Given the description of an element on the screen output the (x, y) to click on. 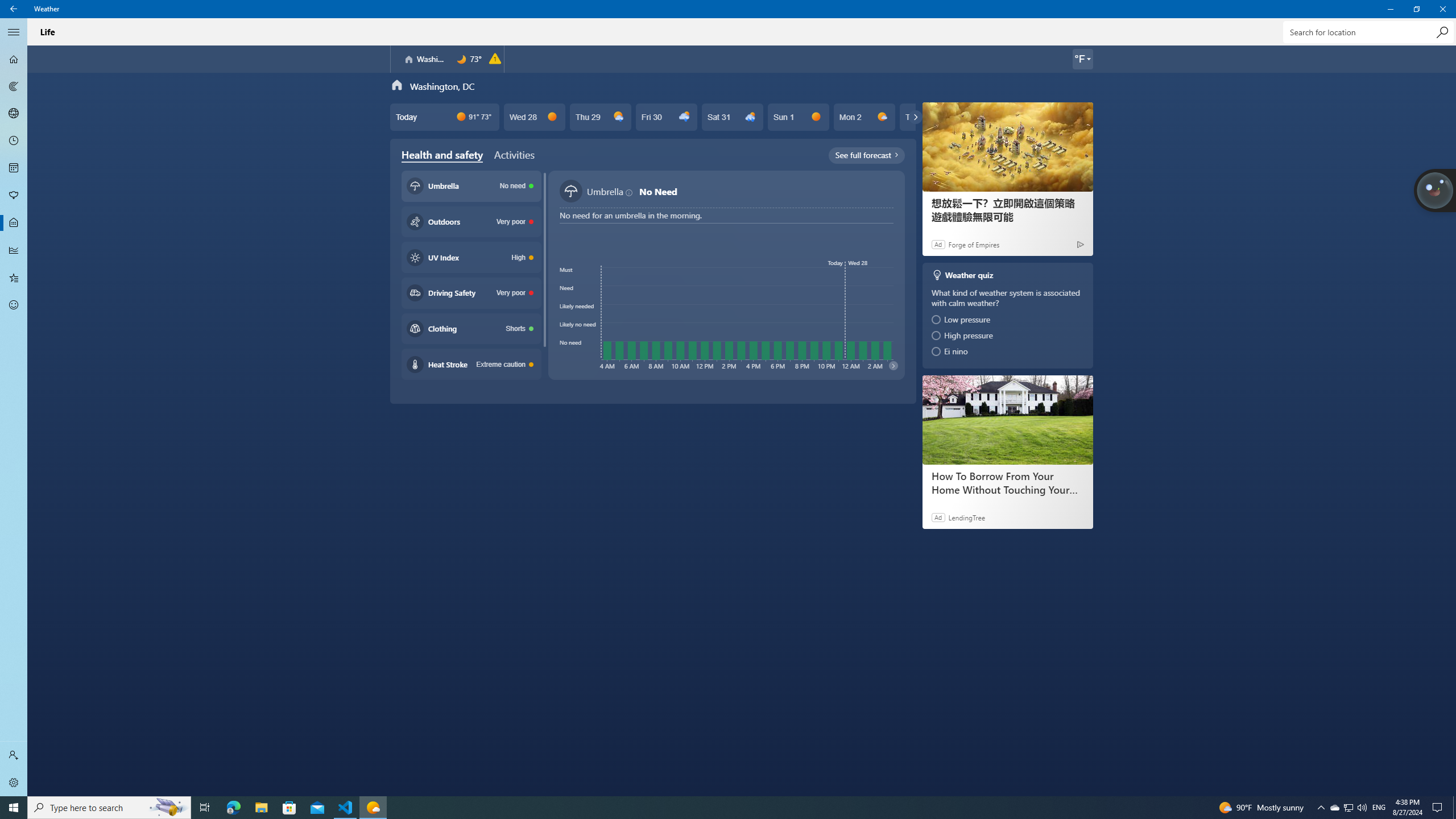
Search for location (1367, 32)
Maps - Not Selected (13, 85)
